Given the description of an element on the screen output the (x, y) to click on. 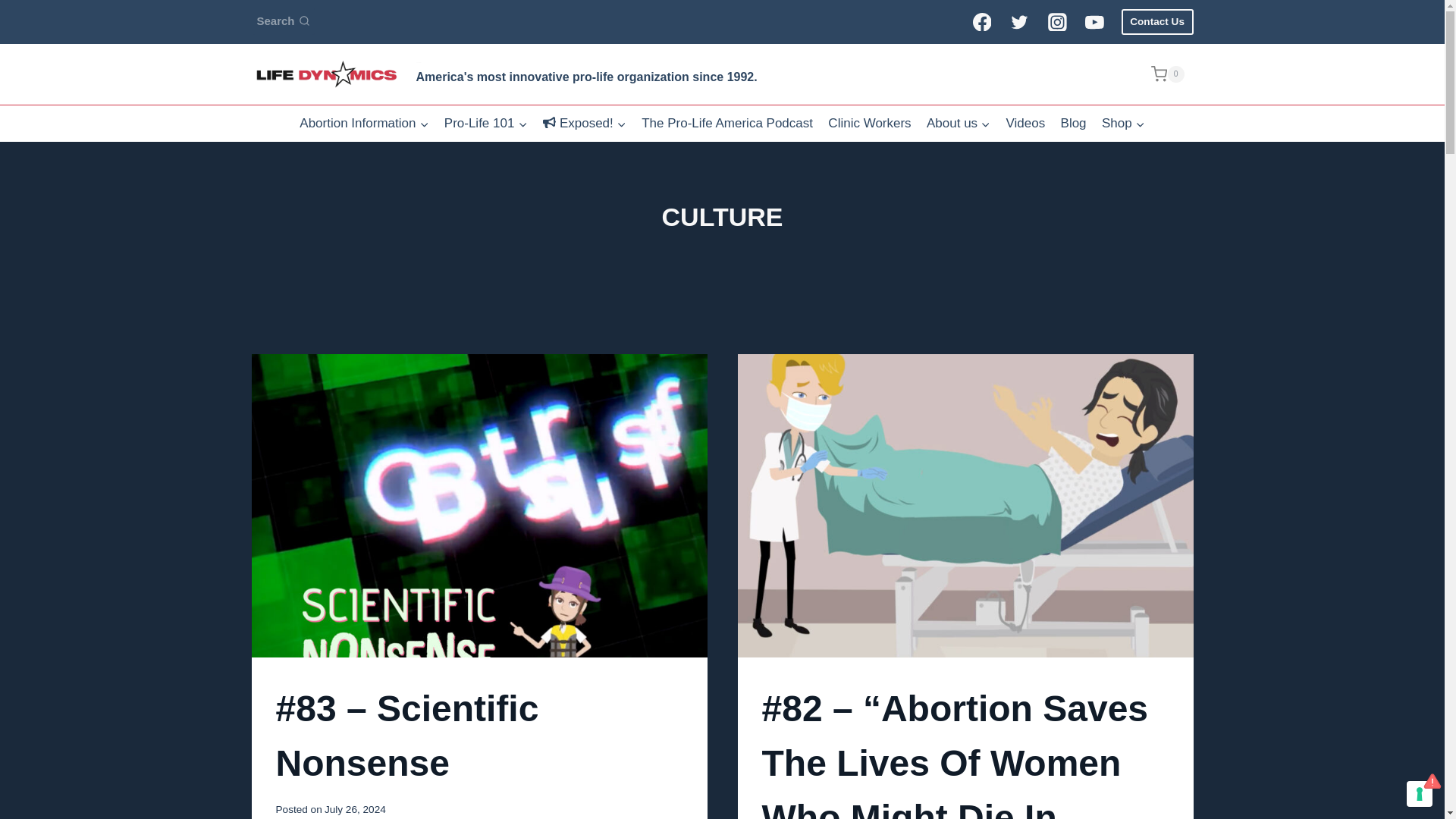
Search (282, 21)
0 (1172, 74)
Pro-Life 101 (485, 123)
Abortion Information (363, 123)
Exposed! (584, 123)
Contact Us (1157, 22)
